Given the description of an element on the screen output the (x, y) to click on. 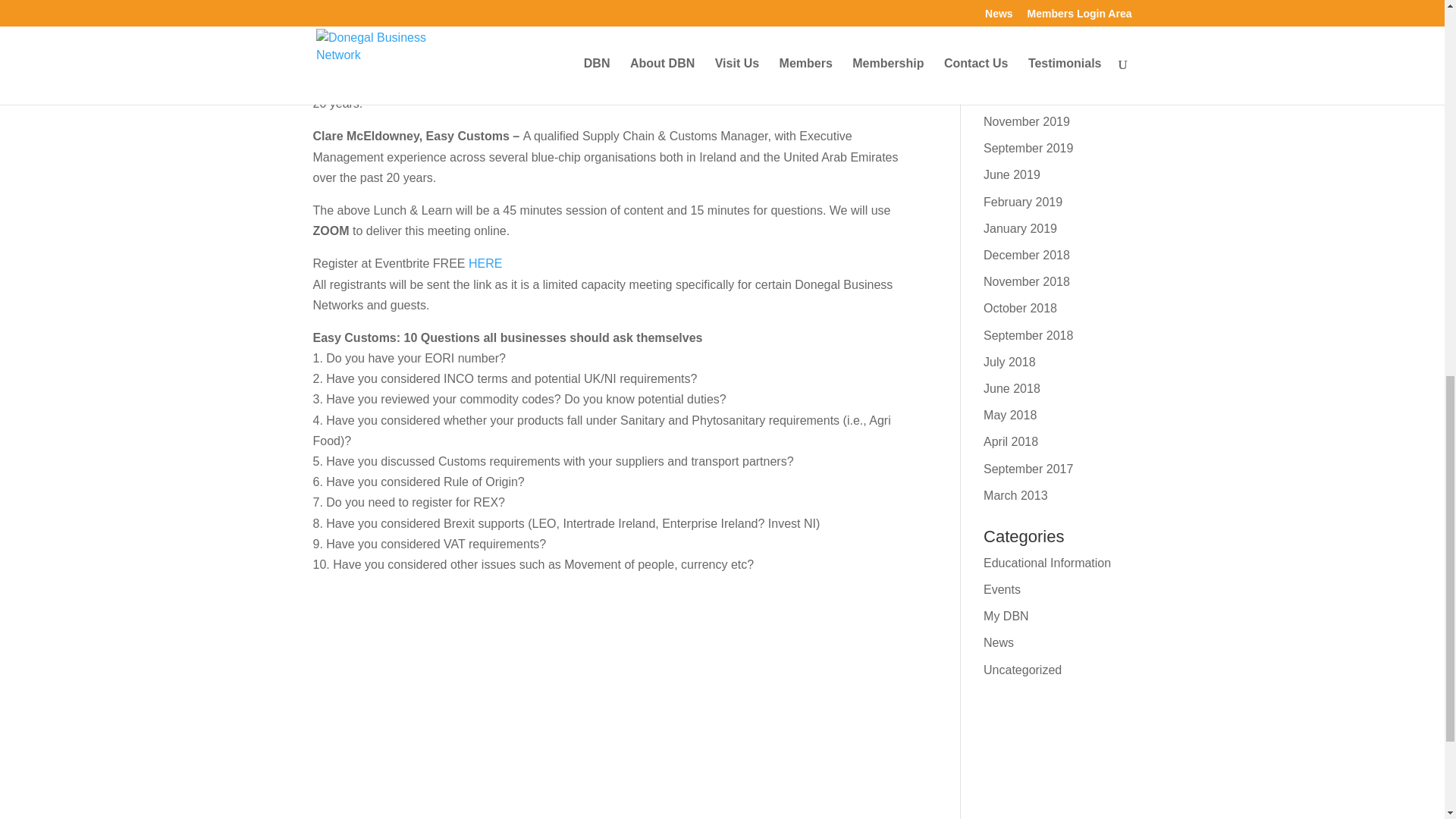
March 2020 (1016, 41)
November 2019 (1027, 121)
September 2019 (1028, 147)
January 2020 (1020, 94)
June 2019 (1012, 174)
August 2020 (1017, 14)
HERE (485, 263)
February 2020 (1023, 68)
February 2019 (1023, 201)
